Given the description of an element on the screen output the (x, y) to click on. 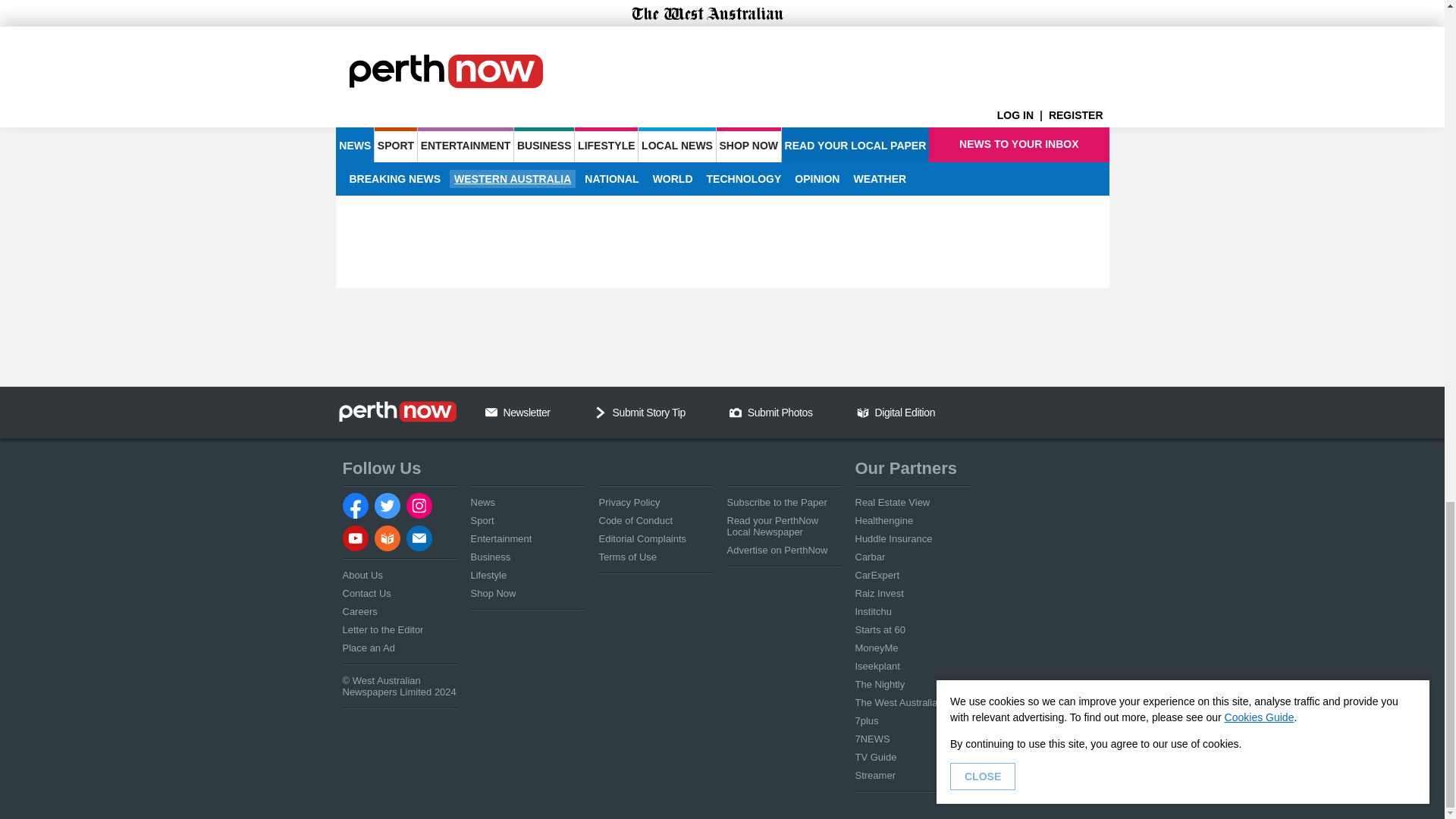
Email Us (490, 412)
Chevron Down Icon (600, 412)
Camera Icon (735, 412)
